Given the description of an element on the screen output the (x, y) to click on. 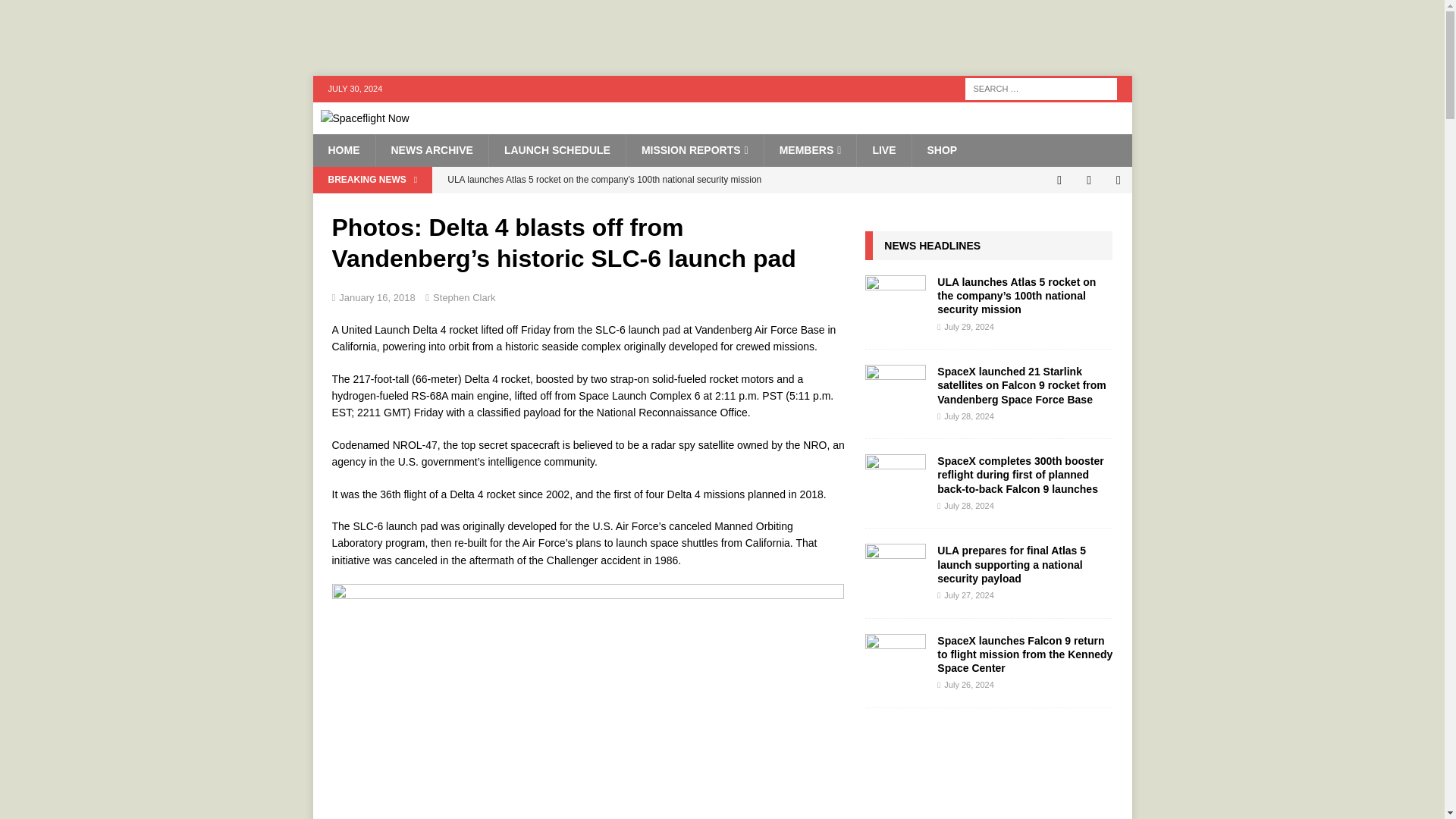
MISSION REPORTS (694, 150)
MEMBERS (809, 150)
LIVE (883, 150)
SHOP (941, 150)
NEWS ARCHIVE (430, 150)
Spaceflight Now (364, 118)
Stephen Clark (463, 297)
January 16, 2018 (376, 297)
HOME (343, 150)
LAUNCH SCHEDULE (556, 150)
Search (56, 11)
